Given the description of an element on the screen output the (x, y) to click on. 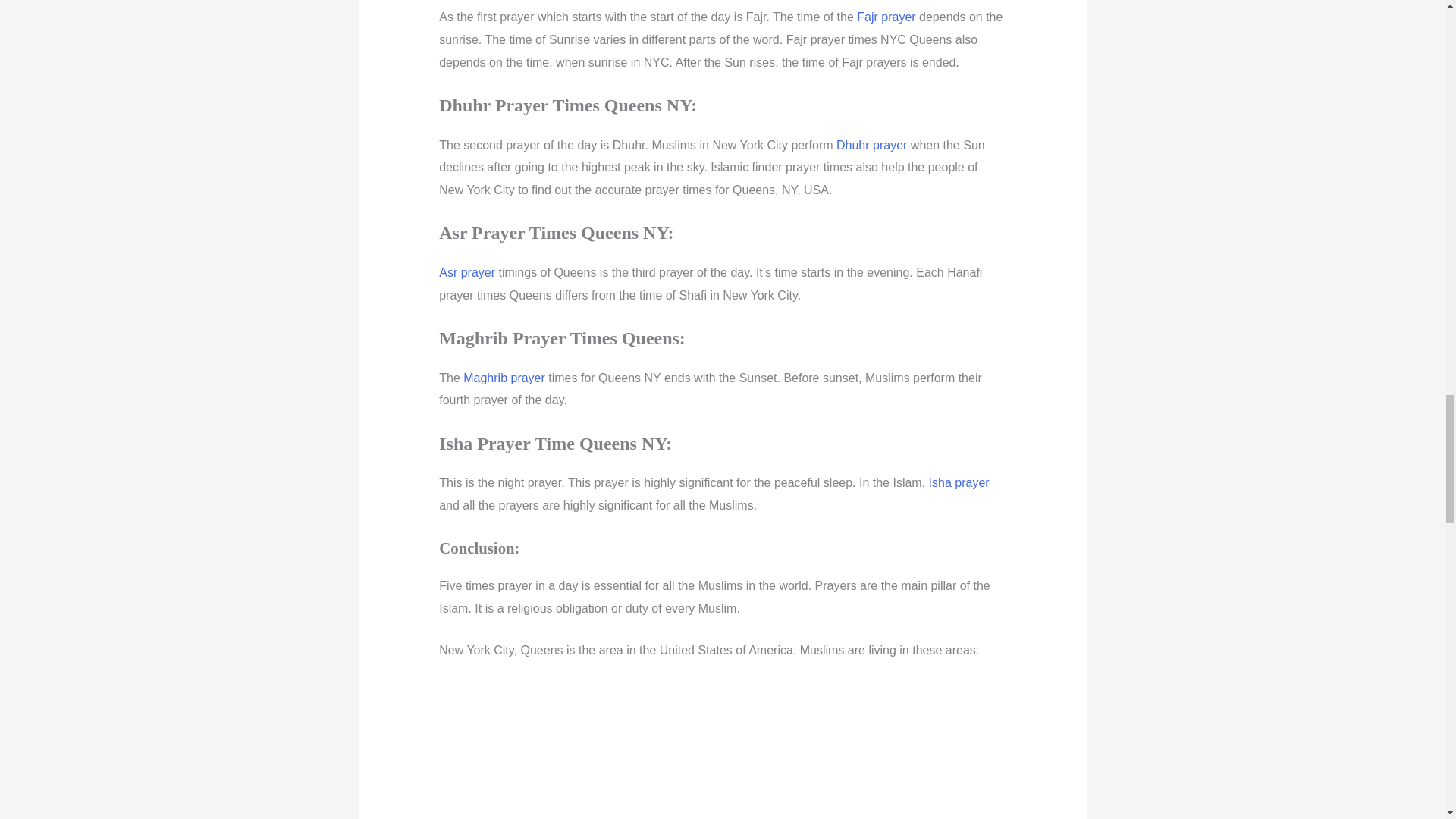
Isha prayer (959, 481)
Advertisement (722, 750)
Fajr prayer (886, 16)
Asr prayer (467, 272)
Maghrib prayer (503, 377)
Dhuhr prayer (871, 144)
